Given the description of an element on the screen output the (x, y) to click on. 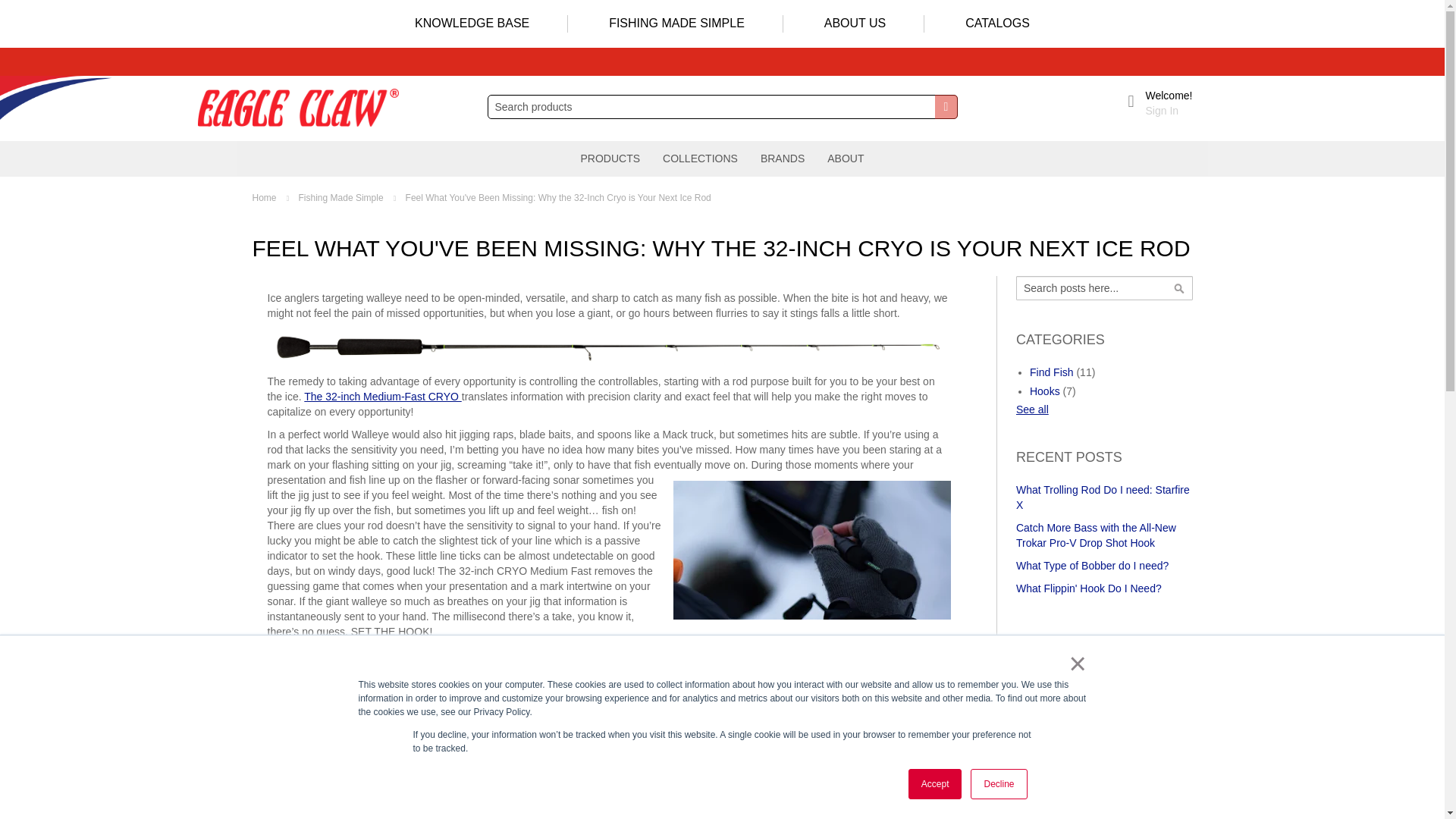
FISHING MADE SIMPLE (676, 23)
Decline (998, 784)
ABOUT US (855, 23)
CATALOGS (997, 23)
COLLECTIONS (699, 158)
Go to Home Page (350, 197)
Go to Home Page (273, 197)
Search (945, 106)
Accept (935, 784)
KNOWLEDGE BASE (471, 23)
ABOUT (845, 158)
BRANDS (782, 158)
PRODUCTS (610, 158)
Sign In (1162, 110)
Search (945, 106)
